Given the description of an element on the screen output the (x, y) to click on. 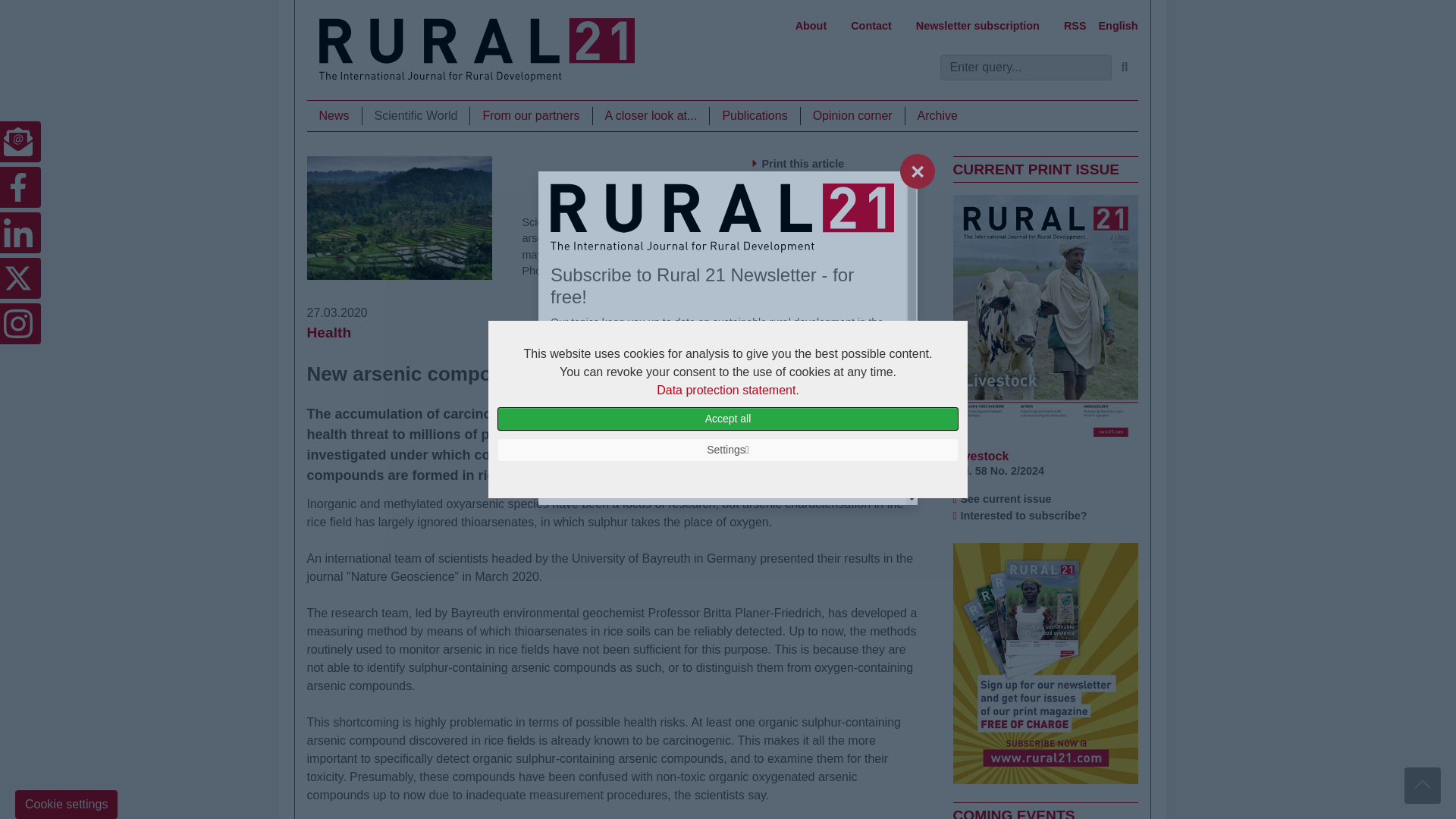
Newsletter subscription (977, 26)
A closer look at... (651, 116)
About (811, 26)
From our partners (530, 116)
About (811, 26)
News (333, 116)
RSS (1075, 26)
RSS (1075, 26)
From our partners (530, 116)
Scientific World (416, 116)
Scientific World (416, 116)
Newsletter subscription (977, 26)
English (1118, 25)
English (1118, 25)
Contact (871, 26)
